Given the description of an element on the screen output the (x, y) to click on. 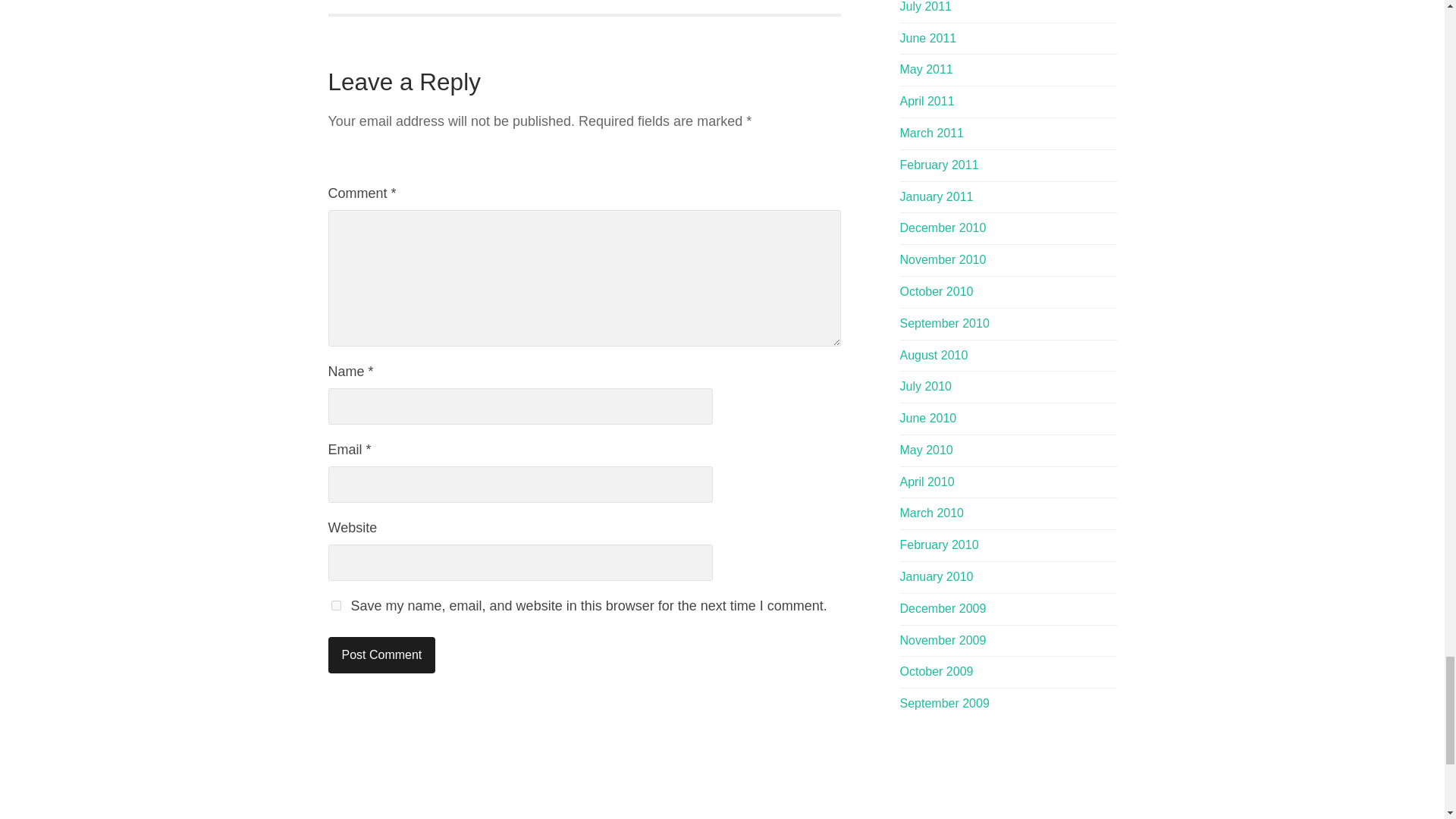
Post Comment (381, 655)
yes (335, 605)
